Given the description of an element on the screen output the (x, y) to click on. 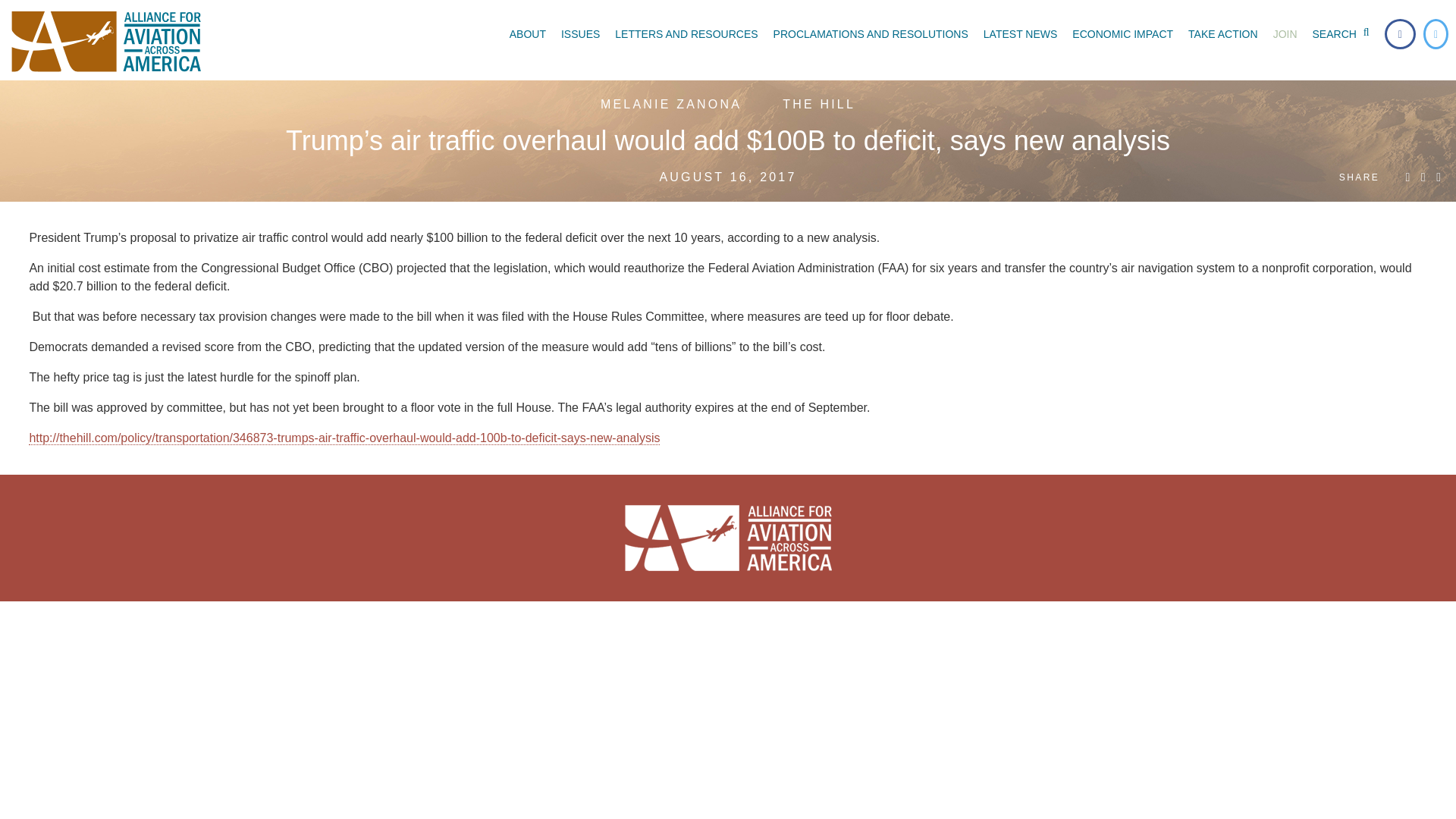
LETTERS AND RESOURCES (686, 33)
ECONOMIC IMPACT (1122, 33)
ABOUT (527, 33)
SEARCH (1344, 33)
PROCLAMATIONS AND RESOLUTIONS (870, 33)
LATEST NEWS (1020, 33)
ISSUES (580, 33)
JOIN (1284, 33)
TAKE ACTION (1222, 33)
